Given the description of an element on the screen output the (x, y) to click on. 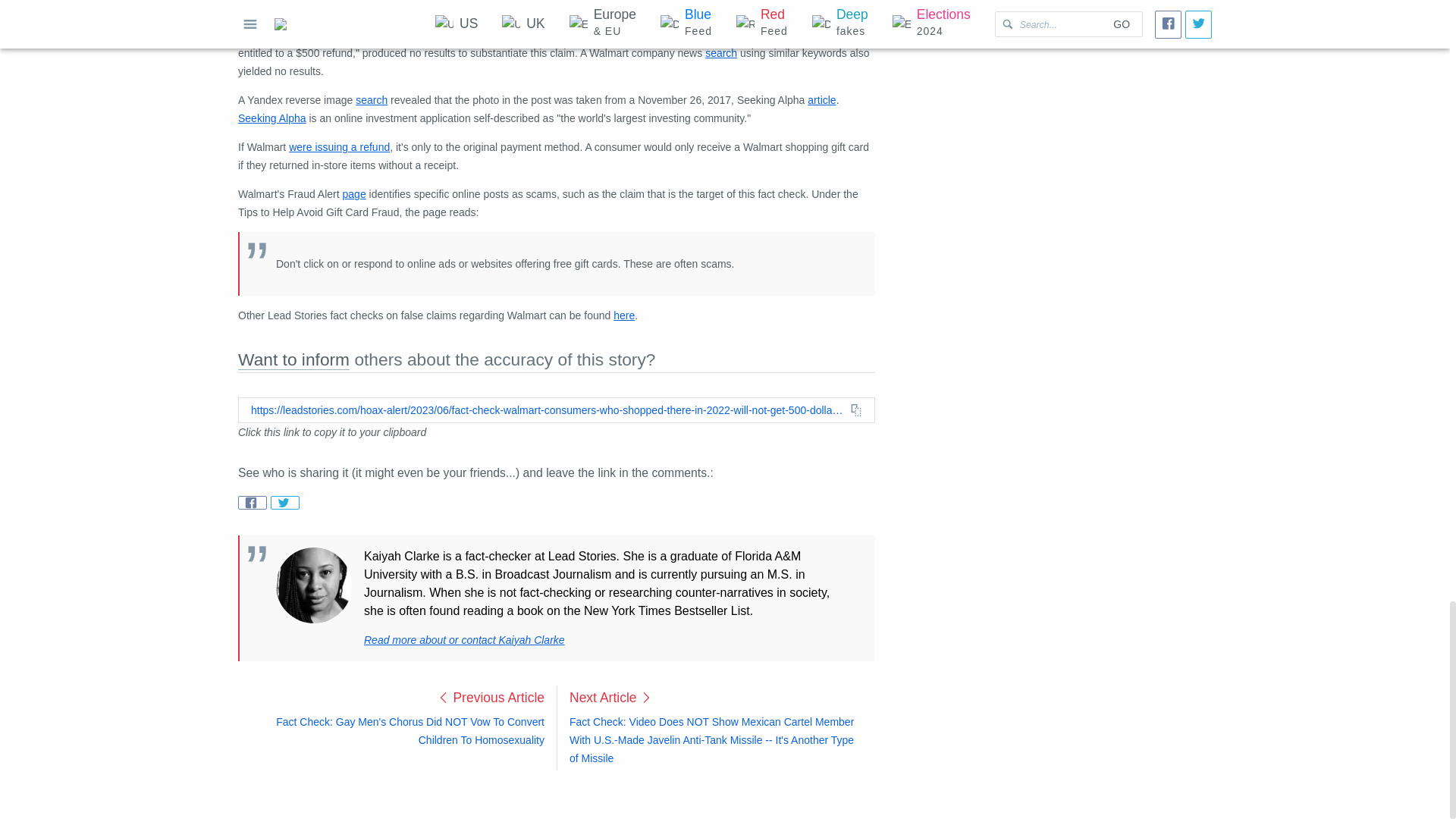
search (371, 100)
Read more about or contact Kaiyah Clarke (464, 639)
search (720, 52)
were issuing a refund (339, 146)
Seeking Alpha (271, 118)
page (354, 193)
article (821, 100)
search (368, 34)
here (623, 315)
